Given the description of an element on the screen output the (x, y) to click on. 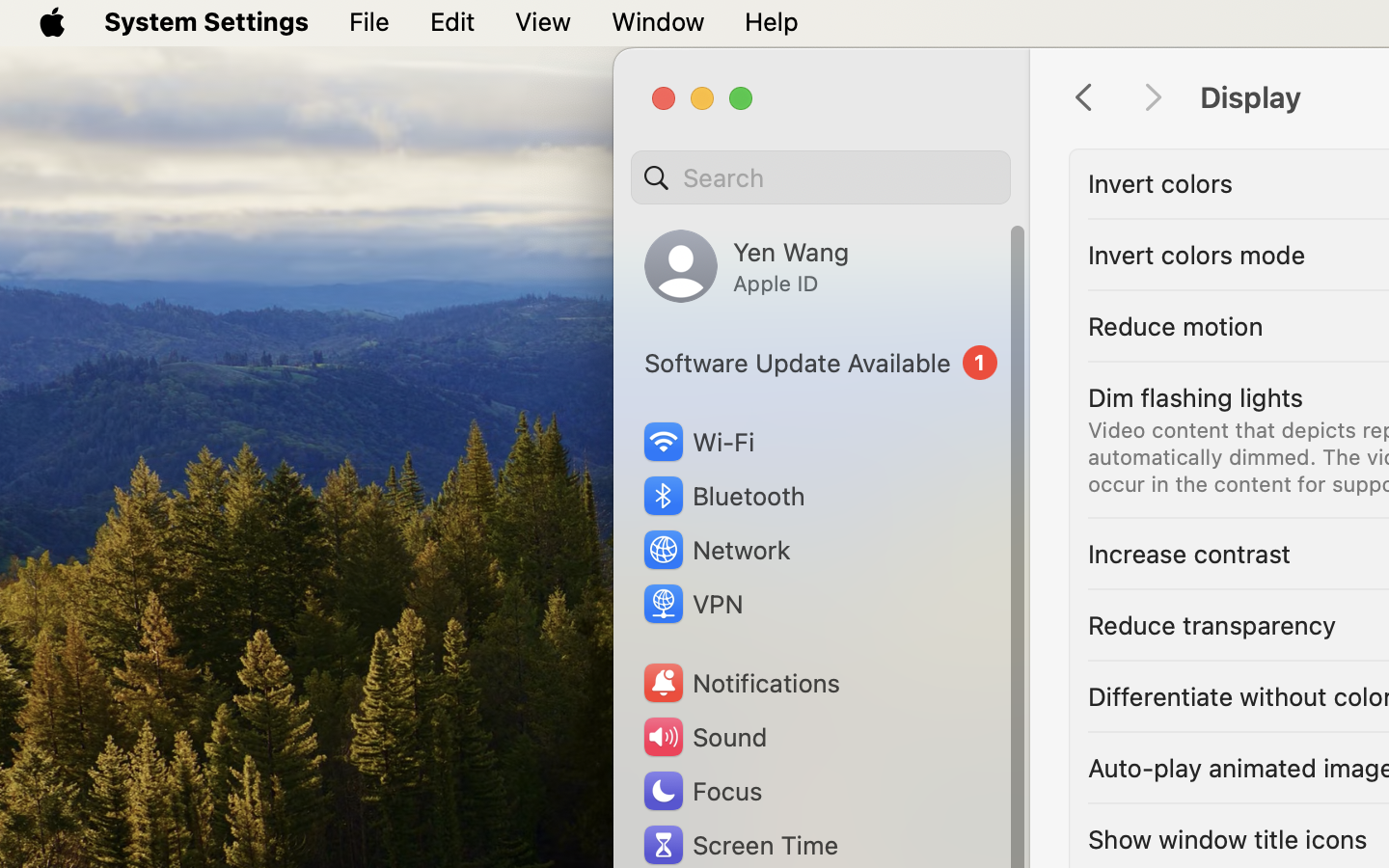
Invert colors Element type: AXStaticText (1160, 182)
Dim flashing lights Element type: AXStaticText (1196, 396)
